Given the description of an element on the screen output the (x, y) to click on. 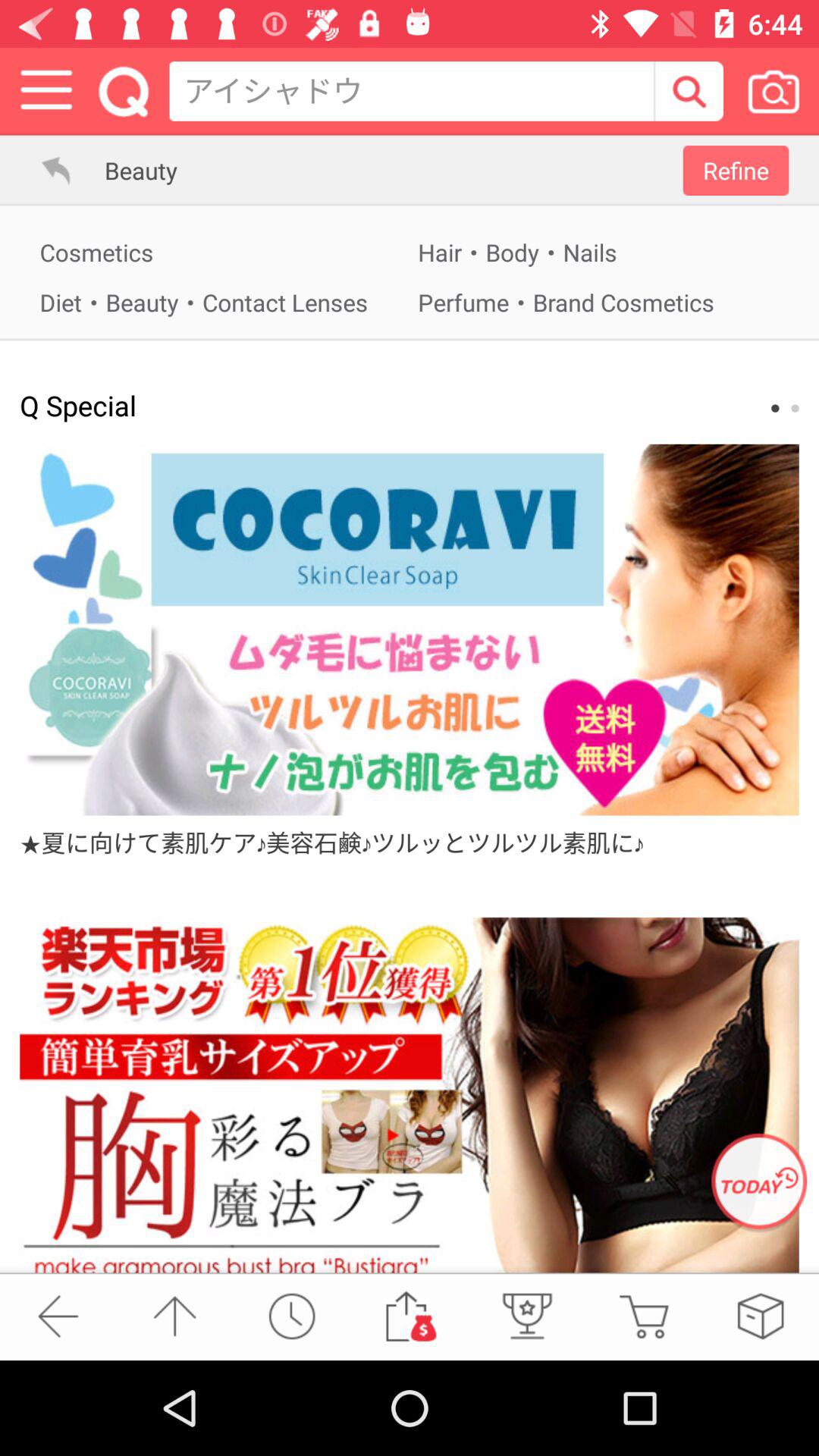
list the prizes winning in the shopping (525, 1316)
